Given the description of an element on the screen output the (x, y) to click on. 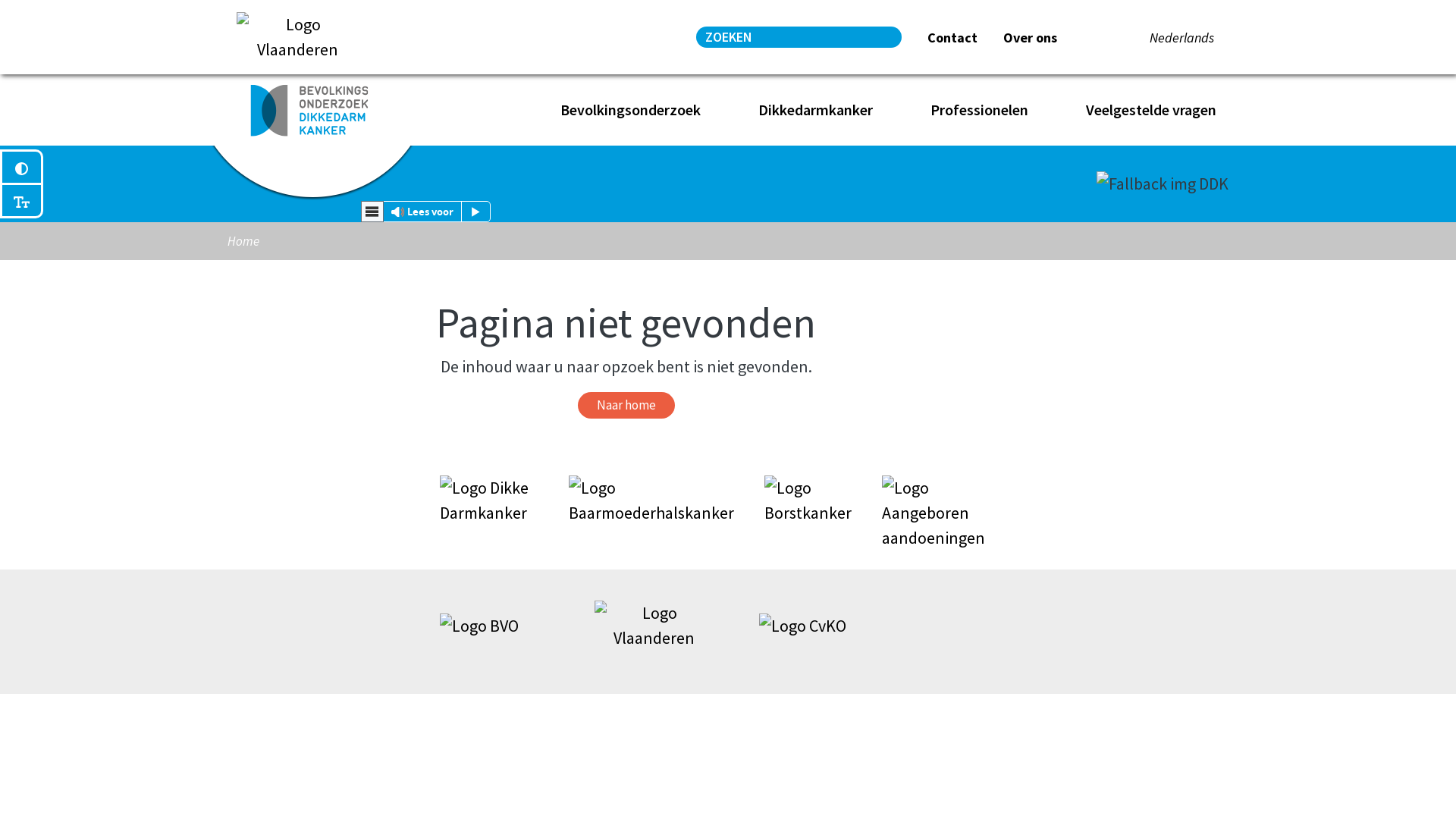
Contact Element type: text (952, 37)
Veelgestelde vragen Element type: text (1156, 109)
Home Element type: hover (308, 109)
Professionelen Element type: text (985, 109)
Naar home Element type: text (625, 405)
Over ons Element type: text (1030, 37)
Zoeken Element type: text (888, 36)
Lees voor Element type: text (425, 211)
Bevolkingsonderzoek Element type: text (636, 109)
webReader menu Element type: hover (371, 211)
Dikkedarmkanker Element type: text (821, 109)
Geef de woorden op waarnaar u wilt zoeken. Element type: hover (787, 36)
Home Element type: text (505, 109)
Nederlands Element type: text (1181, 37)
Home Element type: text (243, 240)
